Given the description of an element on the screen output the (x, y) to click on. 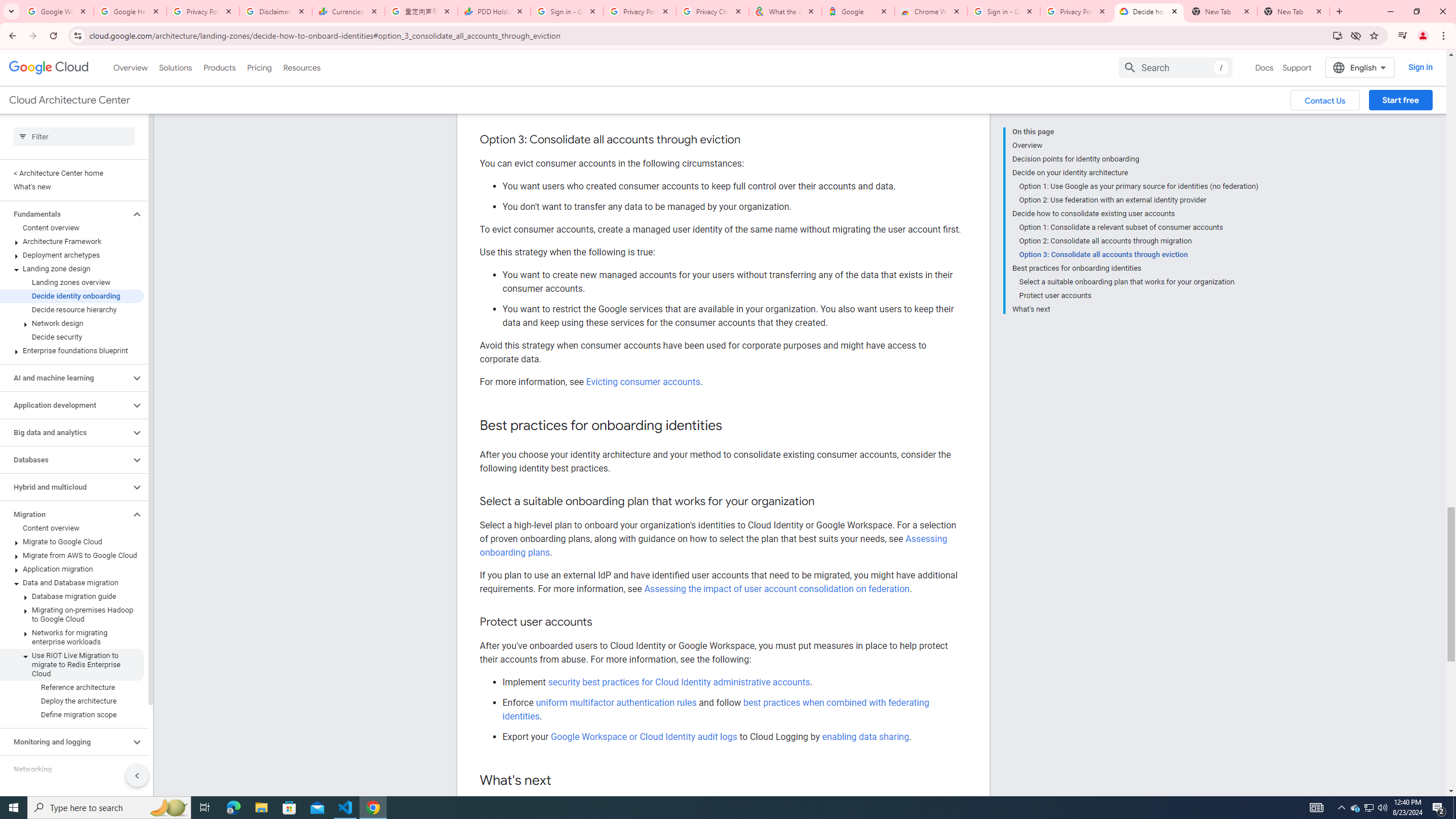
Copy link to this section: Protect user accounts (603, 622)
Start free (1400, 100)
PDD Holdings Inc - ADR (PDD) Price & News - Google Finance (493, 11)
Privacy Checkup (712, 11)
Google Cloud (48, 67)
Products (218, 67)
uniform multifactor authentication rules  (616, 702)
What's new (72, 187)
Resources (301, 67)
Use RIOT Live Migration to migrate to Redis Enterprise Cloud (72, 664)
